Given the description of an element on the screen output the (x, y) to click on. 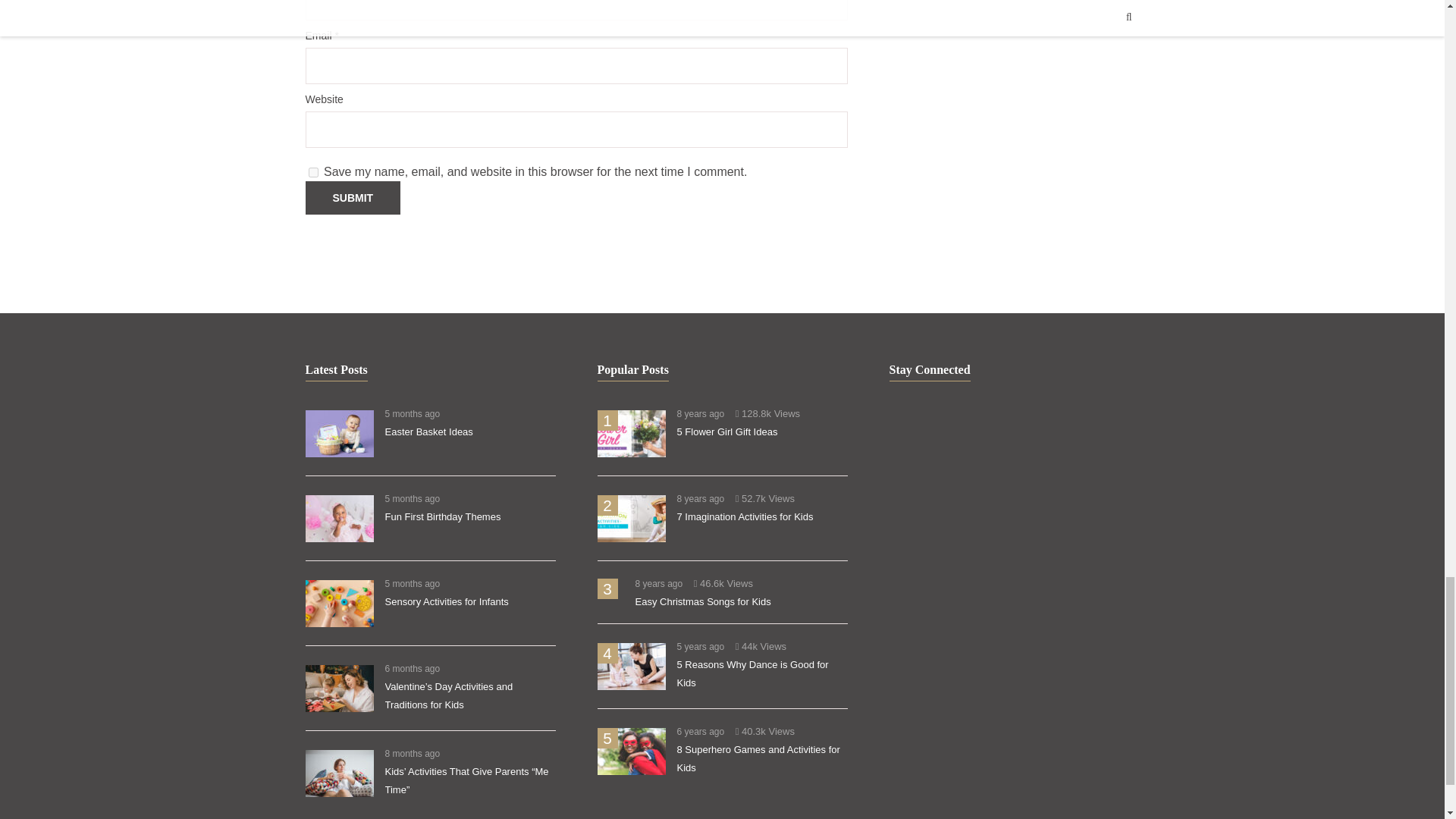
yes (312, 172)
Submit (352, 197)
Submit (352, 197)
